Given the description of an element on the screen output the (x, y) to click on. 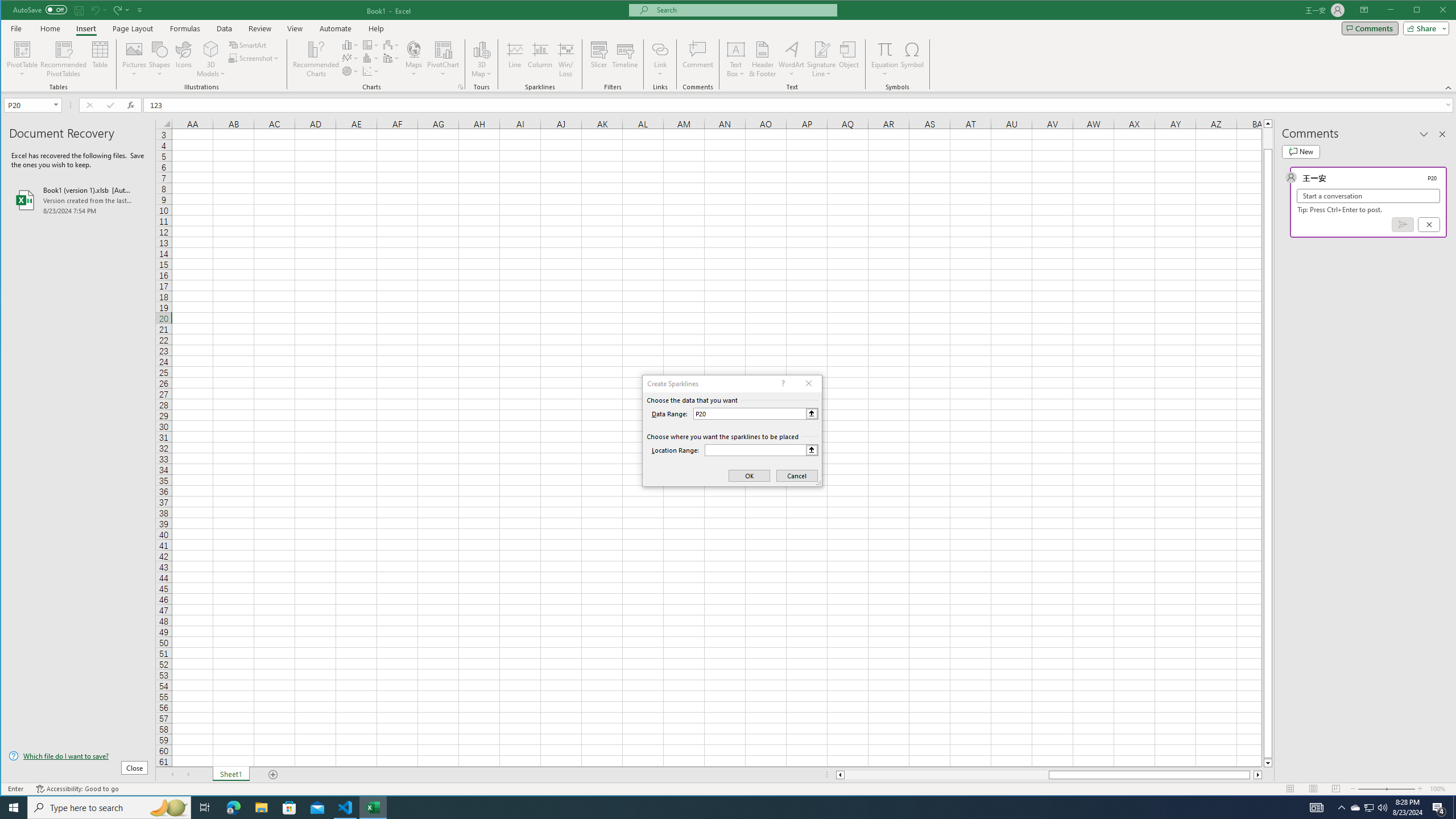
Pictures (134, 59)
Equation (884, 59)
New comment (1300, 151)
Win/Loss (565, 59)
Object... (848, 59)
Icons (183, 59)
Page up (1267, 138)
Insert Combo Chart (391, 57)
